Given the description of an element on the screen output the (x, y) to click on. 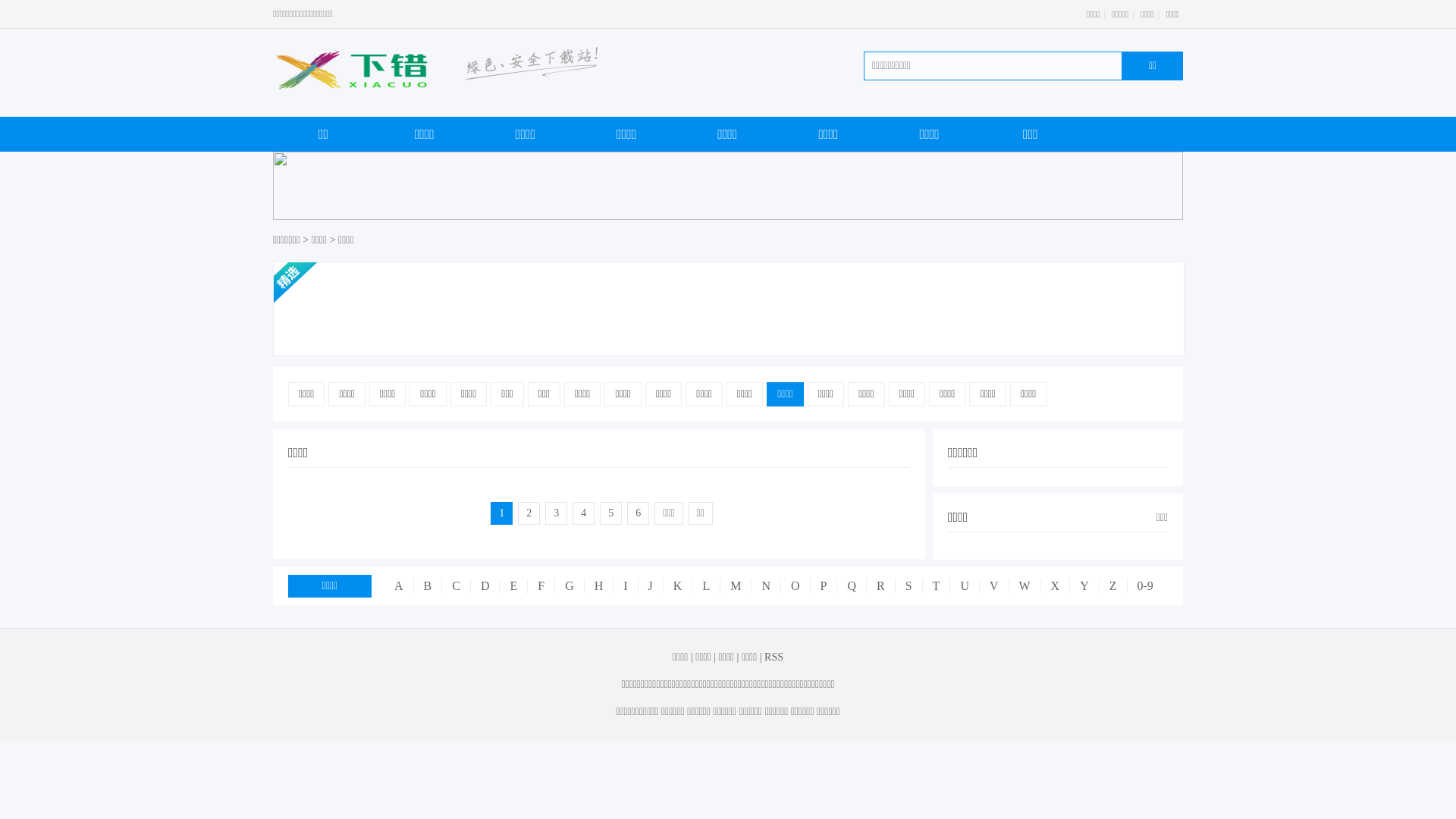
P Element type: text (823, 585)
Z Element type: text (1112, 585)
X Element type: text (1055, 585)
5 Element type: text (610, 513)
C Element type: text (455, 585)
1 Element type: text (501, 513)
U Element type: text (964, 585)
Q Element type: text (851, 585)
V Element type: text (993, 585)
L Element type: text (705, 585)
D Element type: text (484, 585)
B Element type: text (427, 585)
2 Element type: text (528, 513)
G Element type: text (568, 585)
E Element type: text (512, 585)
N Element type: text (765, 585)
W Element type: text (1024, 585)
RSS Element type: text (773, 656)
R Element type: text (880, 585)
Y Element type: text (1083, 585)
M Element type: text (734, 585)
A Element type: text (398, 585)
3 Element type: text (556, 513)
J Element type: text (649, 585)
F Element type: text (540, 585)
O Element type: text (794, 585)
H Element type: text (598, 585)
K Element type: text (677, 585)
6 Element type: text (638, 513)
I Element type: text (624, 585)
T Element type: text (936, 585)
0-9 Element type: text (1144, 585)
S Element type: text (908, 585)
4 Element type: text (583, 513)
